Given the description of an element on the screen output the (x, y) to click on. 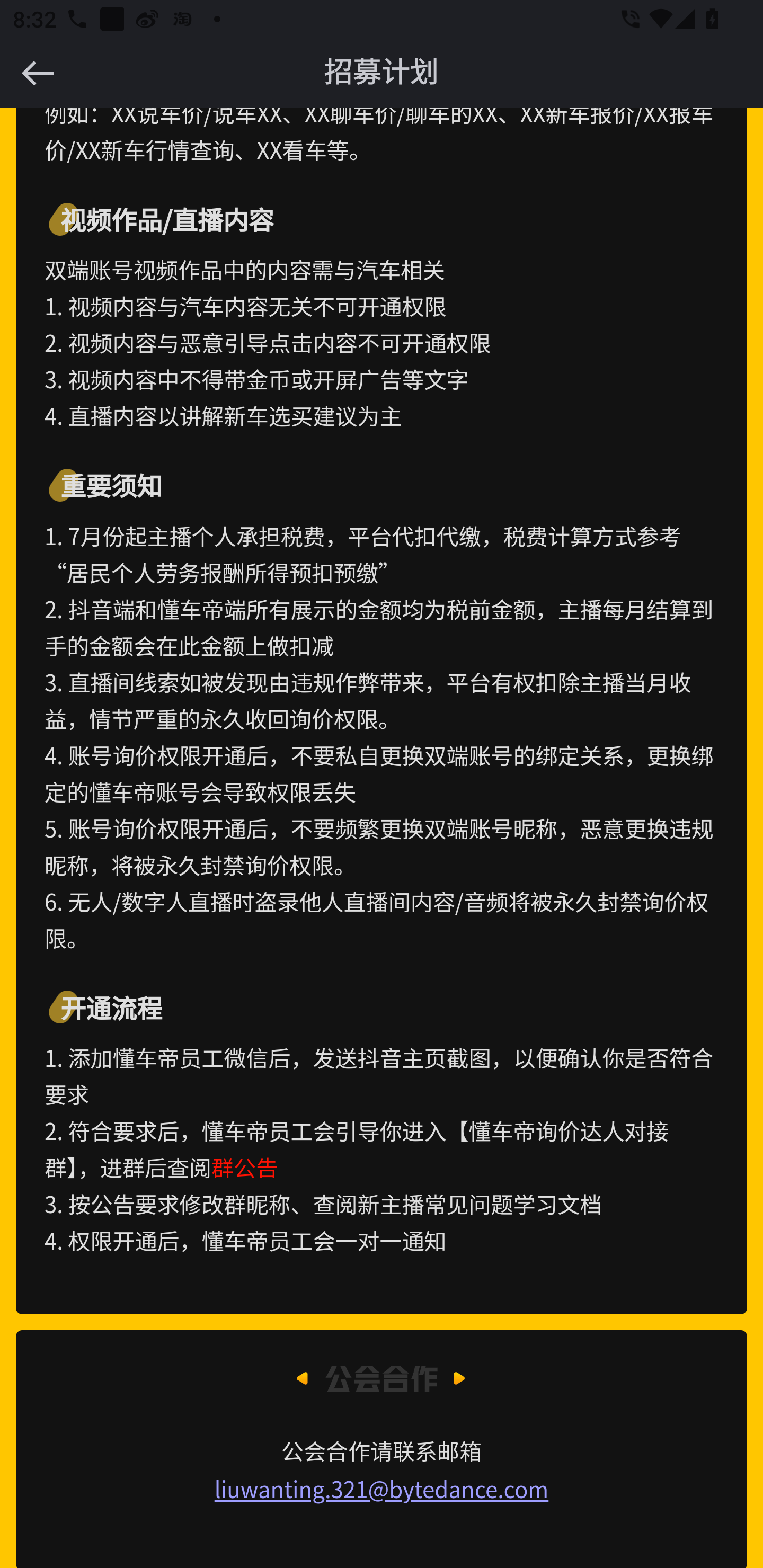
招募计划 (381, 72)
liuwanting.321@bytedance.com (381, 1489)
